Given the description of an element on the screen output the (x, y) to click on. 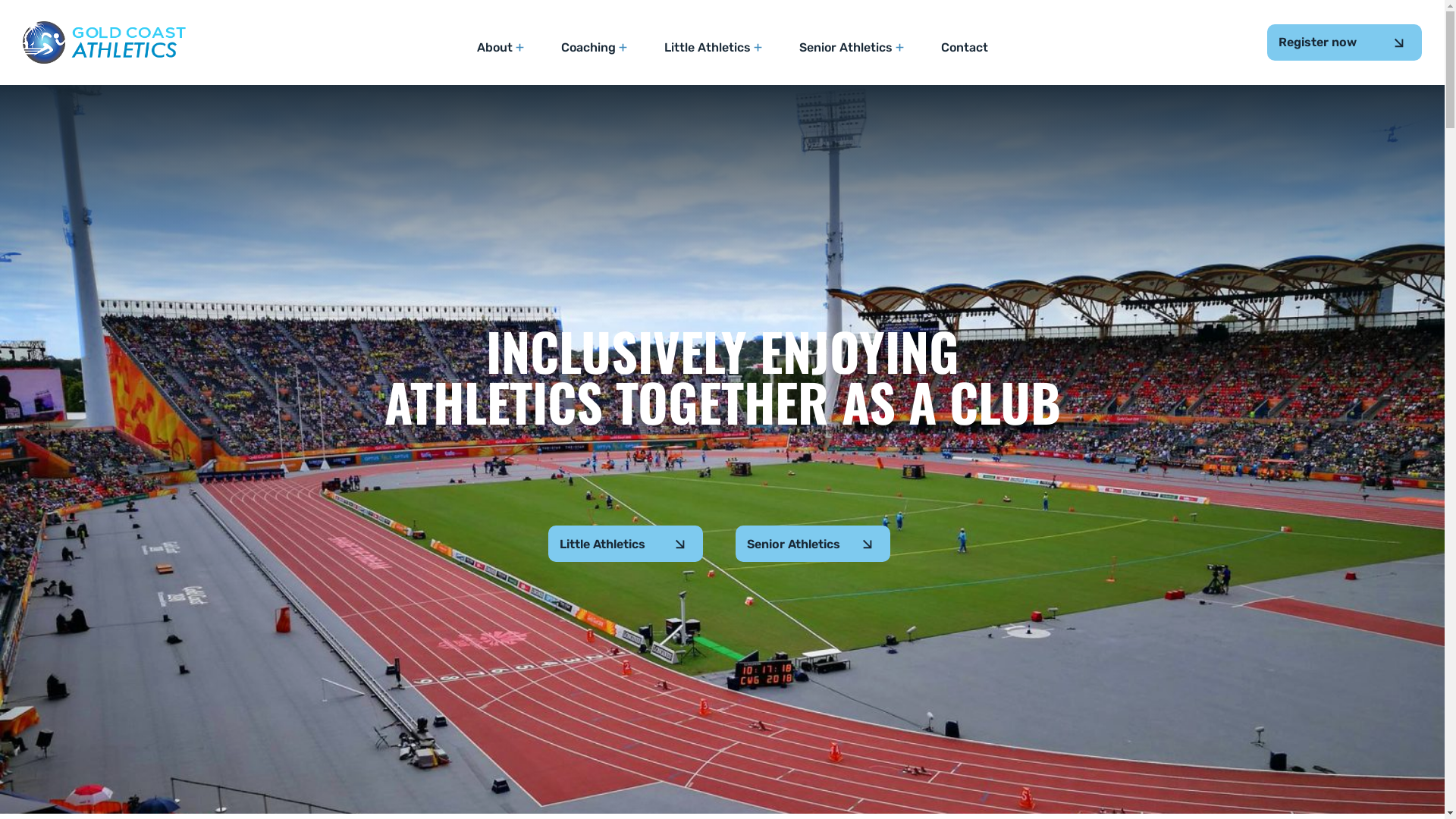
Contact Element type: text (963, 48)
Register now Element type: text (1344, 42)
About Element type: text (500, 48)
Coaching Element type: text (594, 48)
Little Athletics Element type: text (713, 48)
Little Athletics Element type: text (625, 543)
Senior Athletics Element type: text (851, 48)
Senior Athletics Element type: text (812, 543)
